Given the description of an element on the screen output the (x, y) to click on. 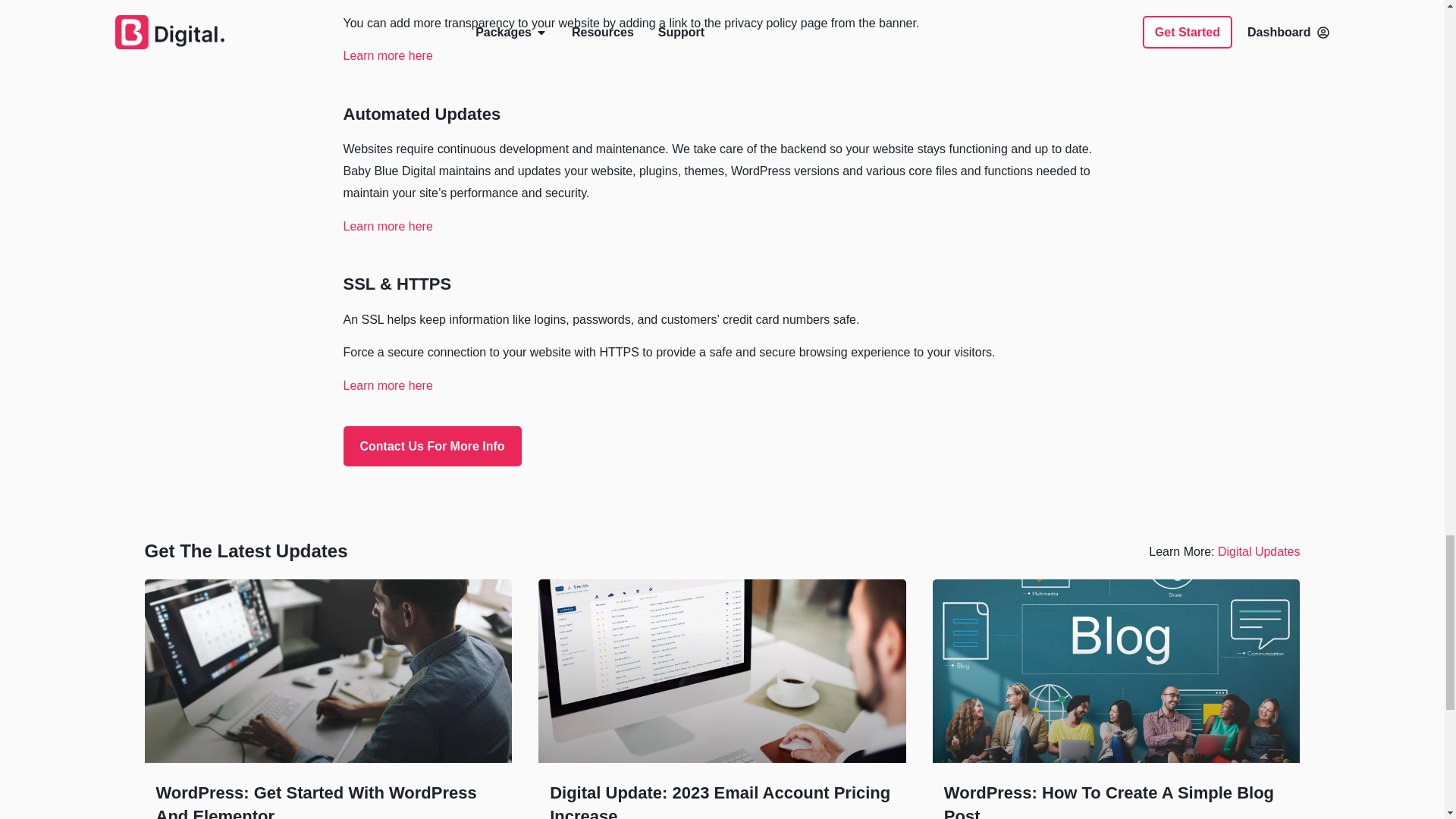
Learn more here (387, 385)
Digital Updates (1258, 551)
Learn more here (387, 55)
Learn more here (387, 226)
WordPress: Get Started With WordPress And Elementor (316, 800)
Contact Us For More Info (431, 445)
